Given the description of an element on the screen output the (x, y) to click on. 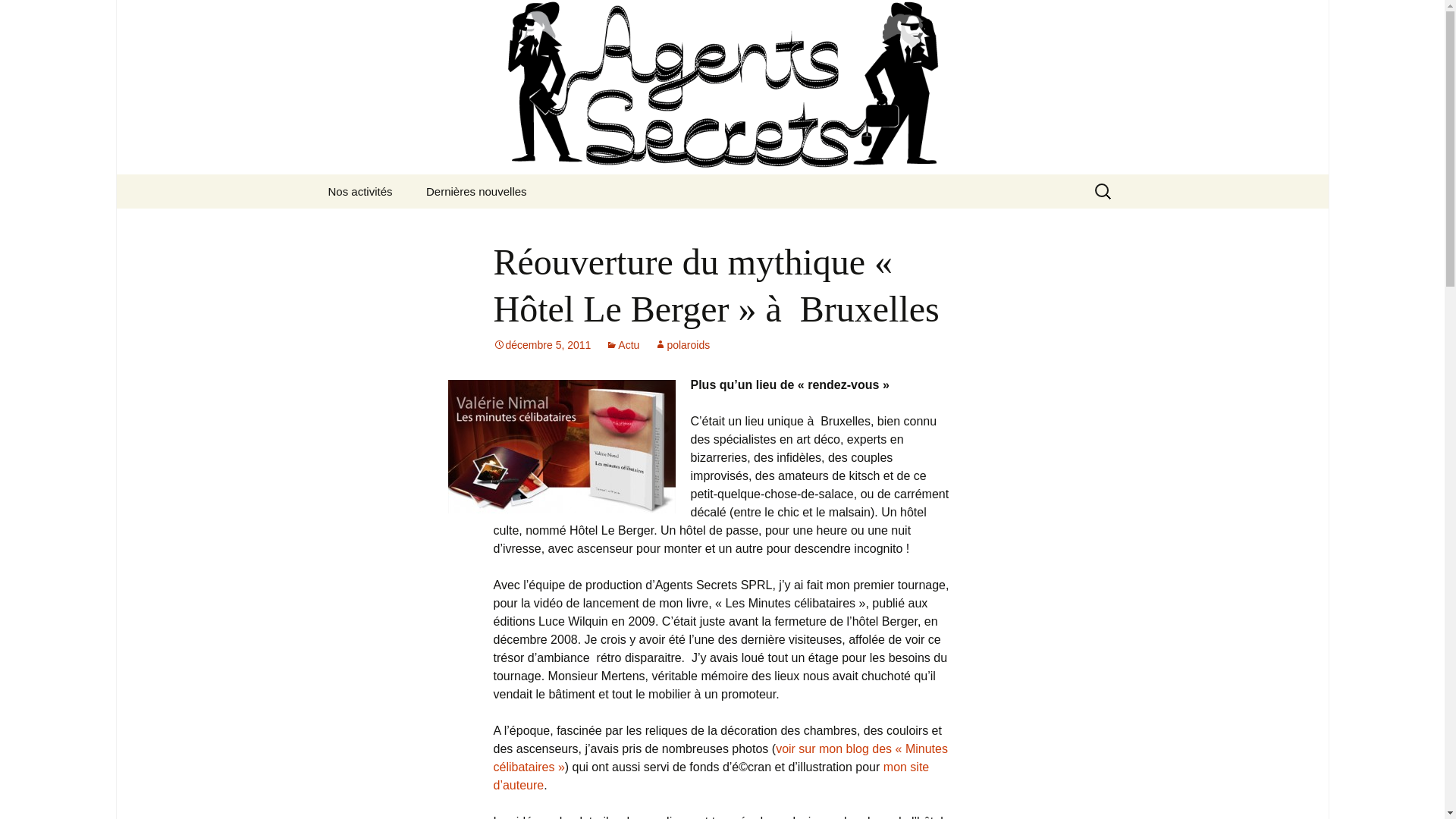
hotelberger-nimal Element type: hover (560, 446)
Rechercher Element type: text (18, 15)
polaroids Element type: text (681, 344)
Aller au contenu Element type: text (312, 173)
Actu Element type: text (622, 344)
